Given the description of an element on the screen output the (x, y) to click on. 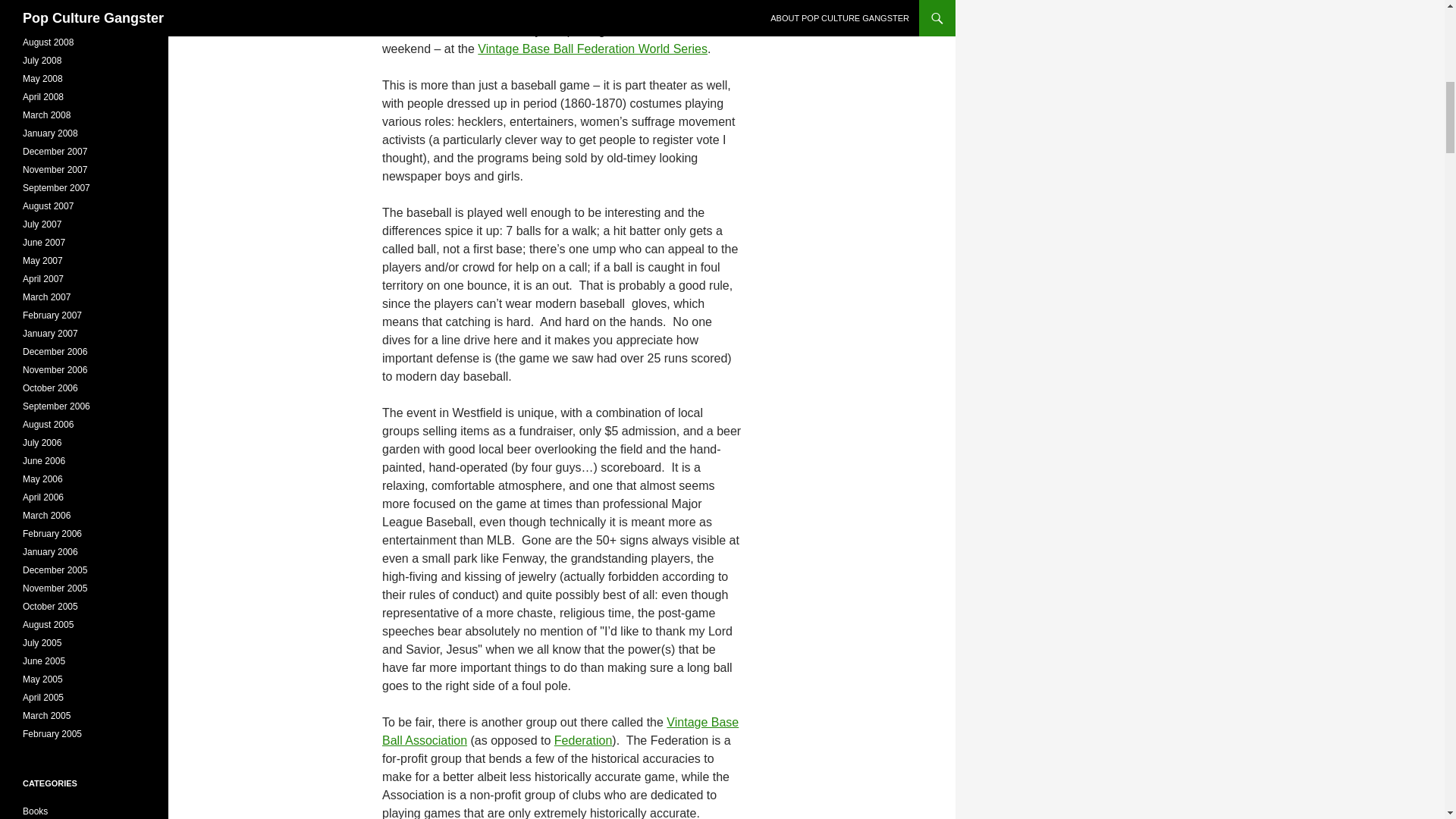
Vintage Base Ball Federation World Series (592, 48)
Vintage Base Ball Association (559, 730)
Federation (583, 739)
